Given the description of an element on the screen output the (x, y) to click on. 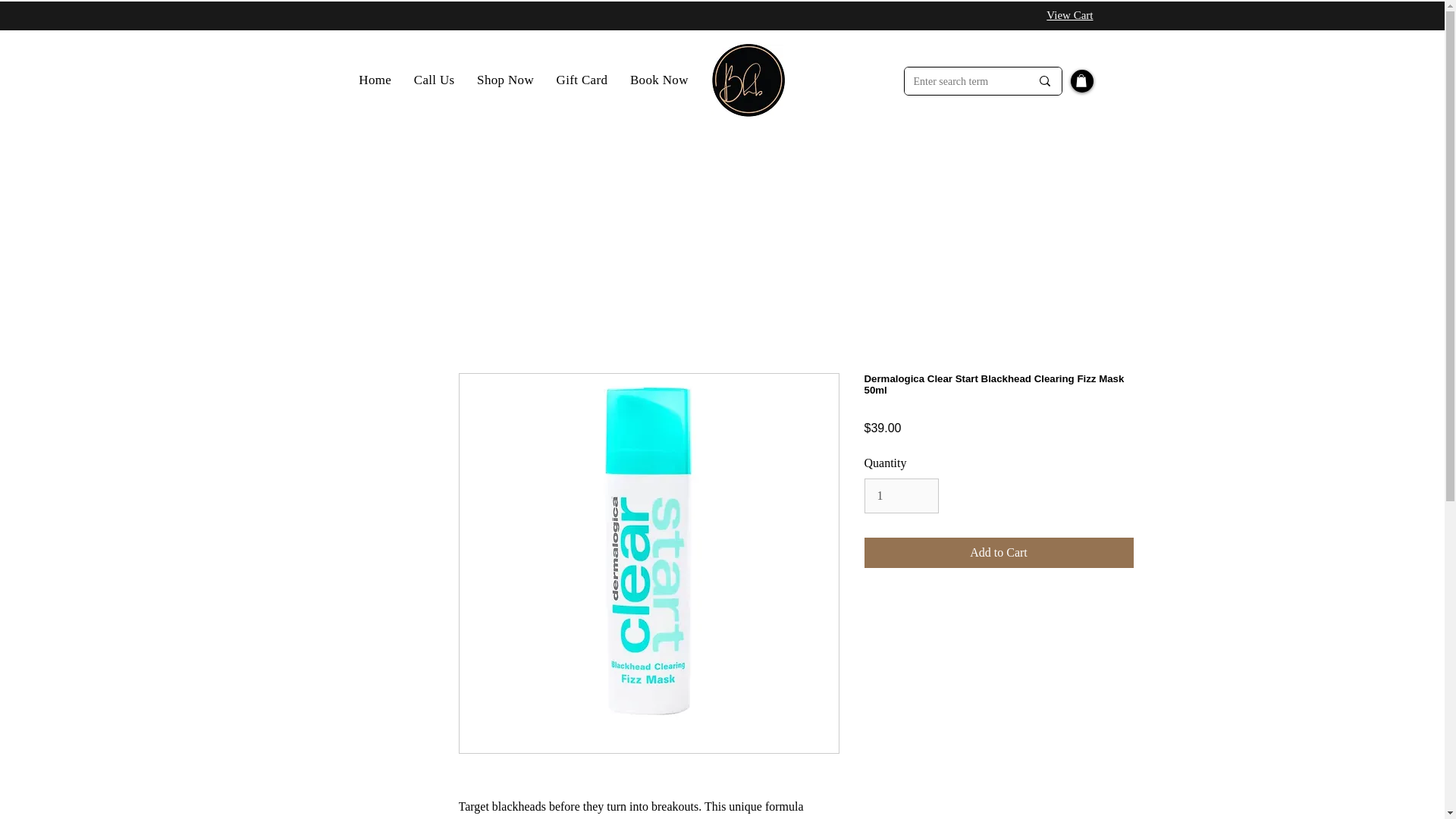
Book Now (658, 80)
Gift Card (581, 80)
1 (901, 495)
Shop Now (504, 80)
Call Us (434, 80)
Home (374, 80)
View Cart (1069, 15)
Add to Cart (999, 552)
